Given the description of an element on the screen output the (x, y) to click on. 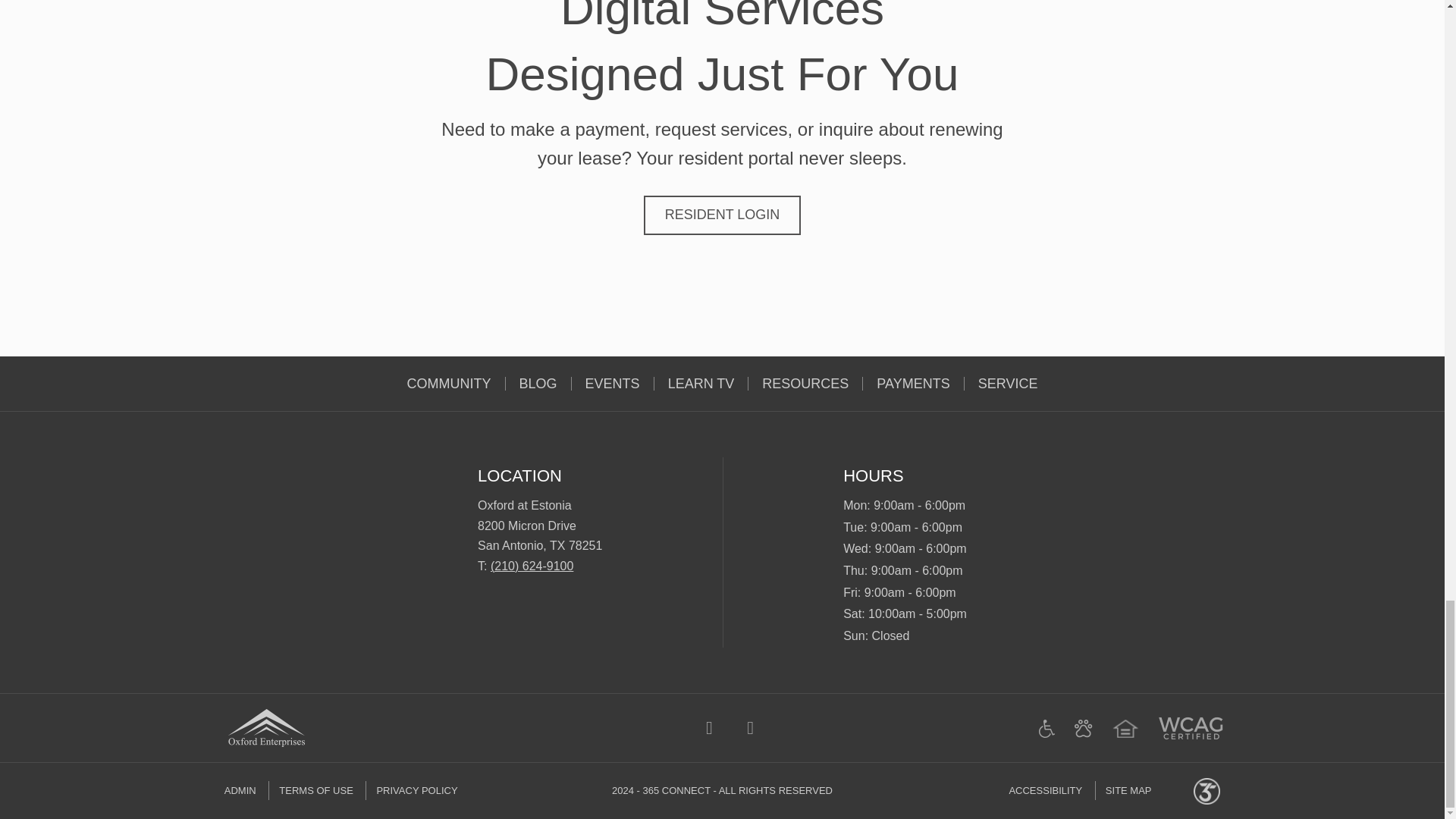
SITE MAP (1127, 790)
BLOG (538, 383)
LEARN TV (701, 383)
PRIVACY POLICY (416, 790)
PAYMENTS (913, 383)
ACCESSIBILITY (1050, 790)
RESOURCES (805, 383)
TERMS OF USE (314, 790)
RESIDENT LOGIN (722, 215)
ADMIN (245, 790)
COMMUNITY (449, 383)
SERVICE (1007, 383)
EVENTS (612, 383)
